Given the description of an element on the screen output the (x, y) to click on. 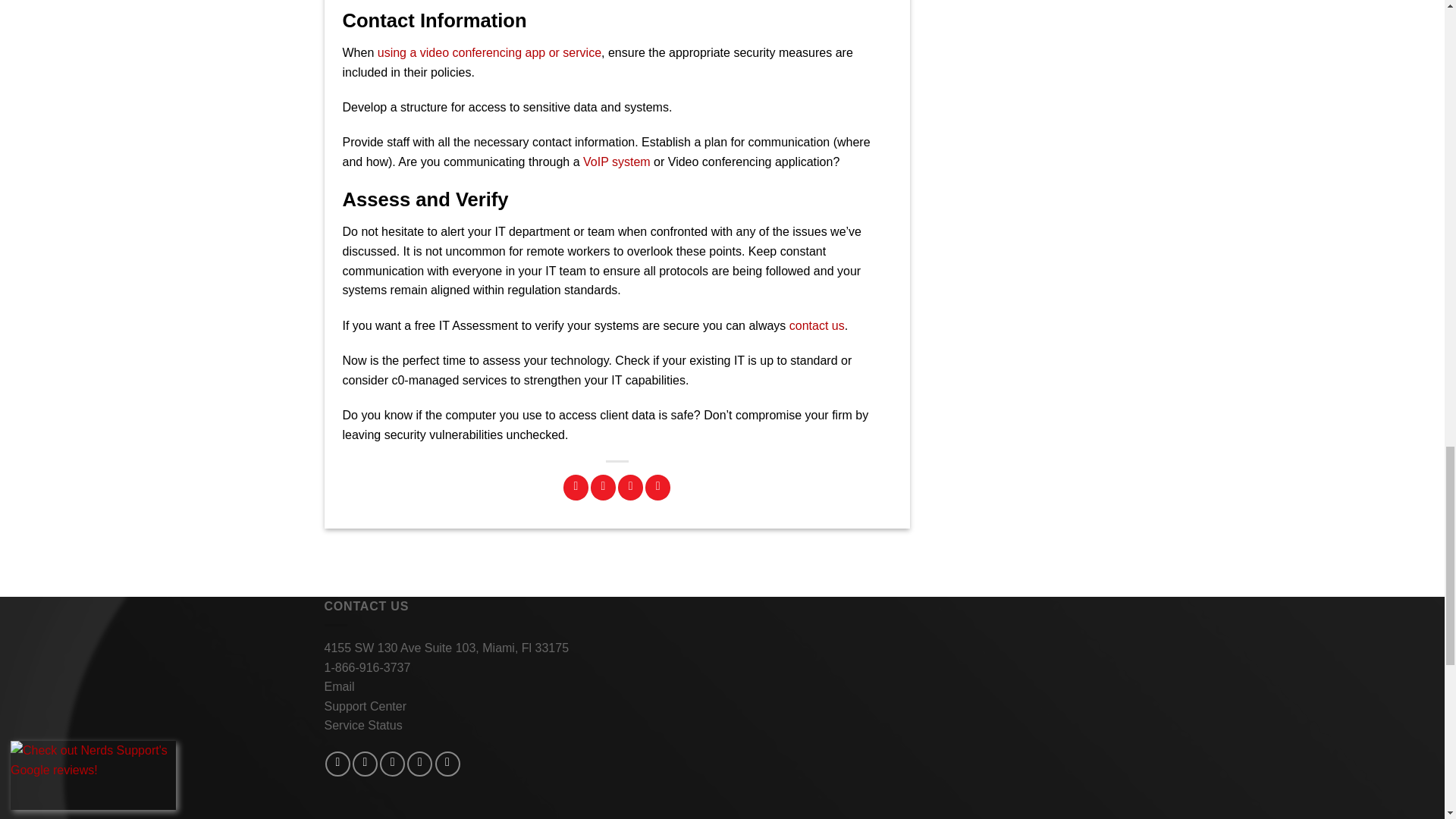
Share on Facebook (575, 487)
Email to a Friend (630, 487)
Share on Twitter (603, 487)
Follow on Facebook (337, 763)
Share on LinkedIn (657, 487)
Follow on Instagram (364, 763)
